Given the description of an element on the screen output the (x, y) to click on. 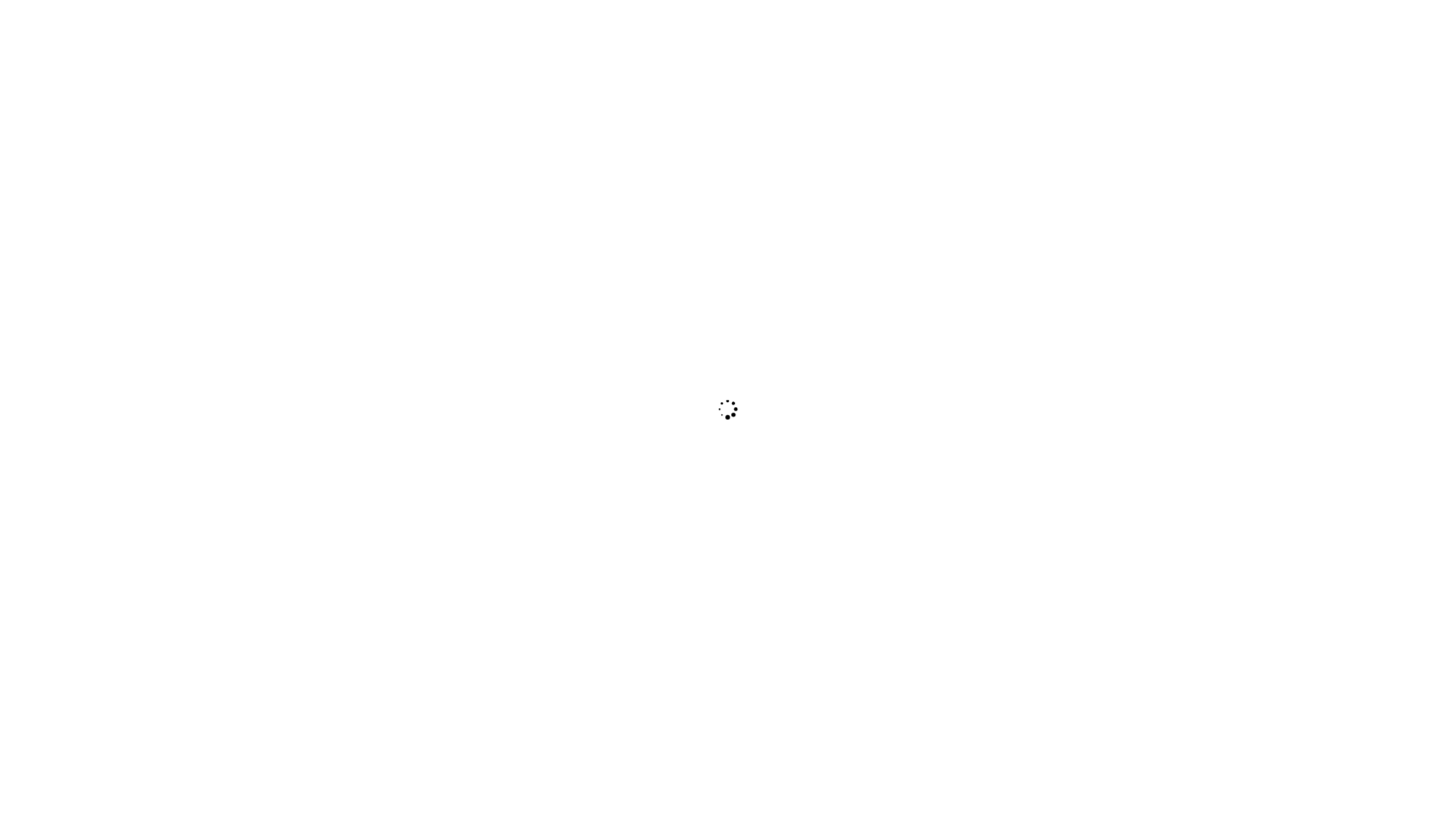
+375 (29) 678-88-18 Element type: text (870, 477)
+375 (29) 678-88-18 Element type: text (770, 26)
info@kudesnica.by Element type: text (857, 511)
